Given the description of an element on the screen output the (x, y) to click on. 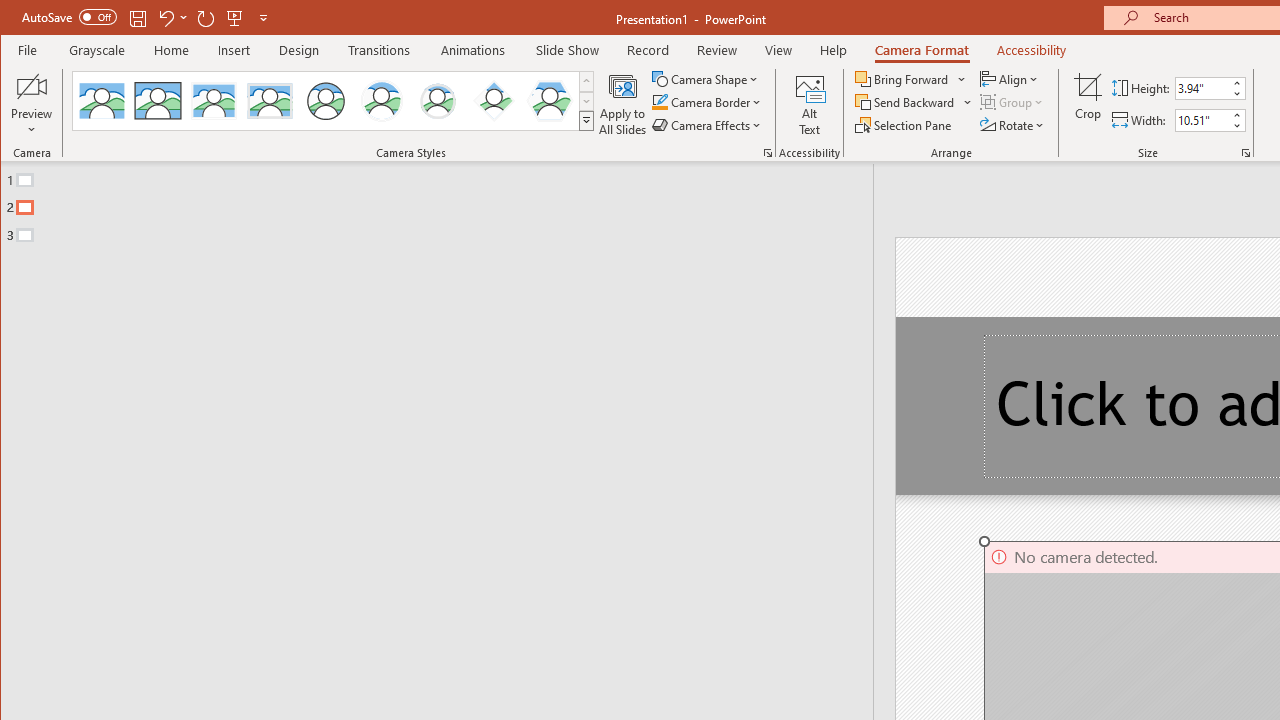
Cameo Width (1201, 120)
Apply to All Slides (622, 104)
Size and Position... (1245, 152)
Group (1012, 101)
Camera Effects (708, 124)
Send Backward (906, 101)
Camera Format (921, 50)
Camera Shape (706, 78)
Rotate (1013, 124)
Simple Frame Rectangle (157, 100)
Soft Edge Rectangle (269, 100)
